Given the description of an element on the screen output the (x, y) to click on. 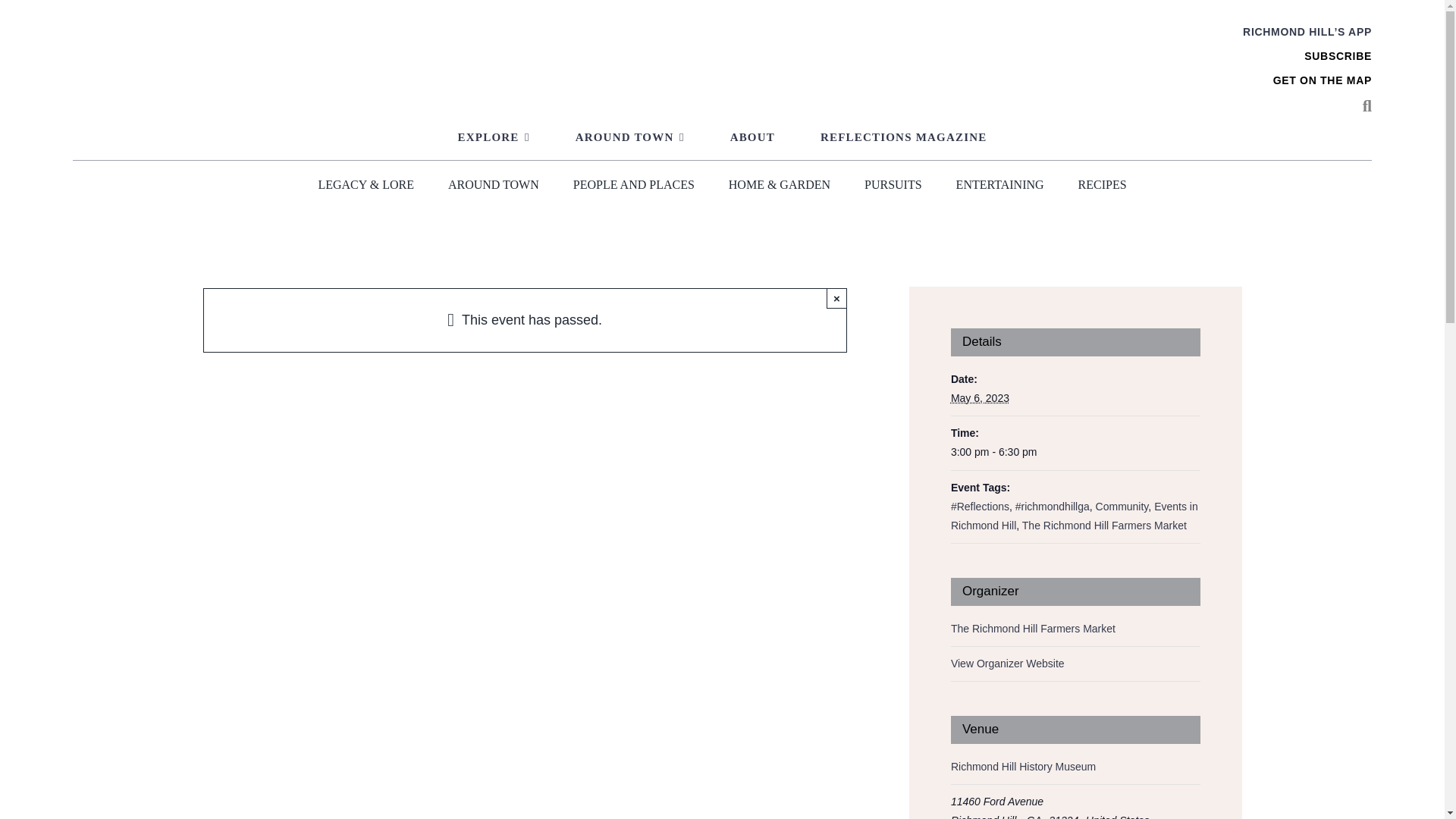
SUBSCRIBE (1337, 55)
EXPLORE (494, 137)
REFLECTIONS MAGAZINE (903, 137)
2023-05-06 (979, 398)
PURSUITS (892, 184)
PEOPLE AND PLACES (633, 184)
RHLifestyle Logo (722, 64)
AROUND TOWN (493, 184)
The Richmond Hill Farmers Market (1032, 628)
ENTERTAINING (999, 184)
AROUND TOWN (630, 137)
2023-05-06 (1074, 452)
ABOUT (752, 137)
GET ON THE MAP (1321, 80)
RECIPES (1102, 184)
